Given the description of an element on the screen output the (x, y) to click on. 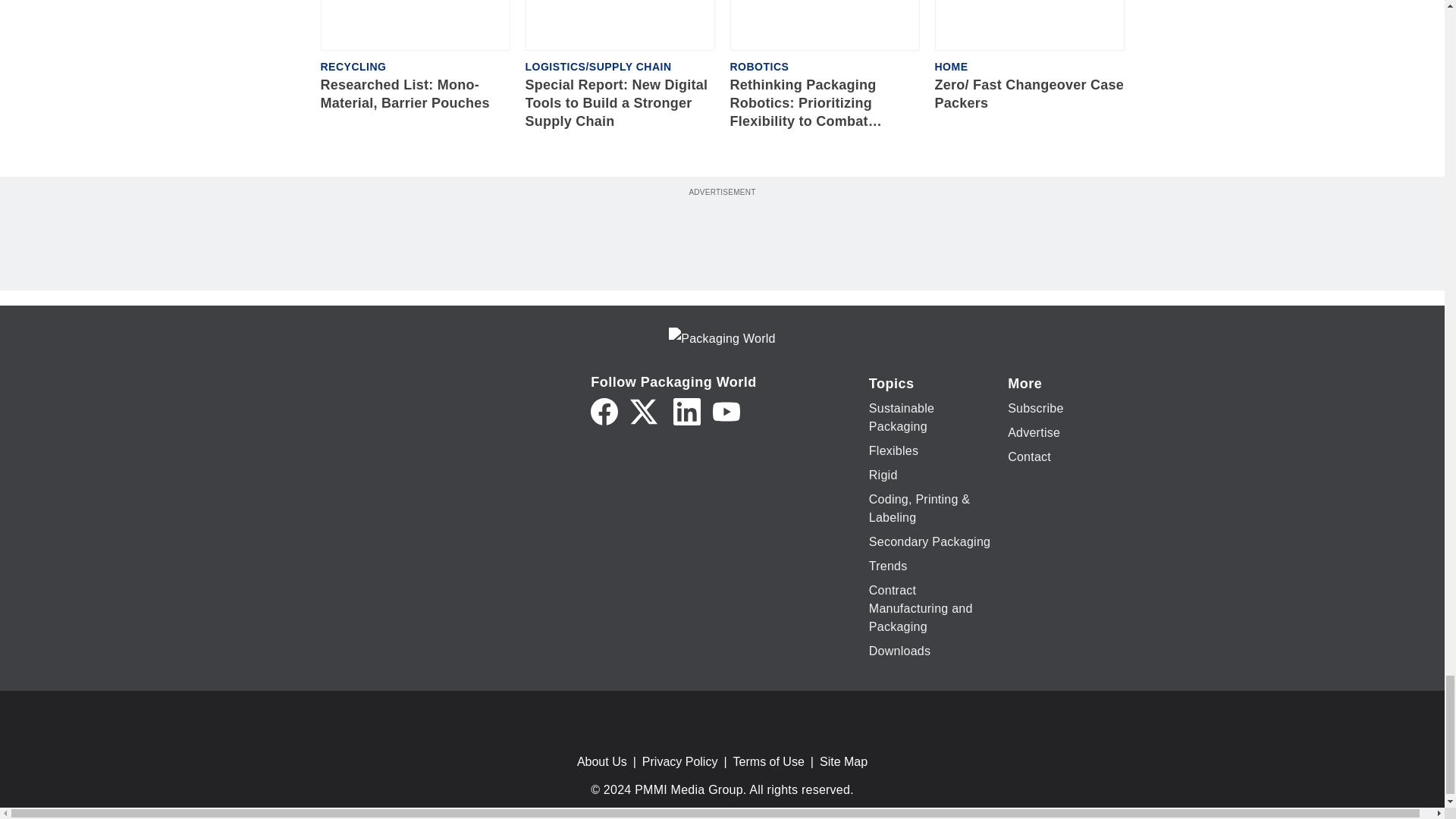
Facebook icon (604, 411)
LinkedIn icon (686, 411)
Twitter X icon (644, 411)
YouTube icon (726, 411)
